Given the description of an element on the screen output the (x, y) to click on. 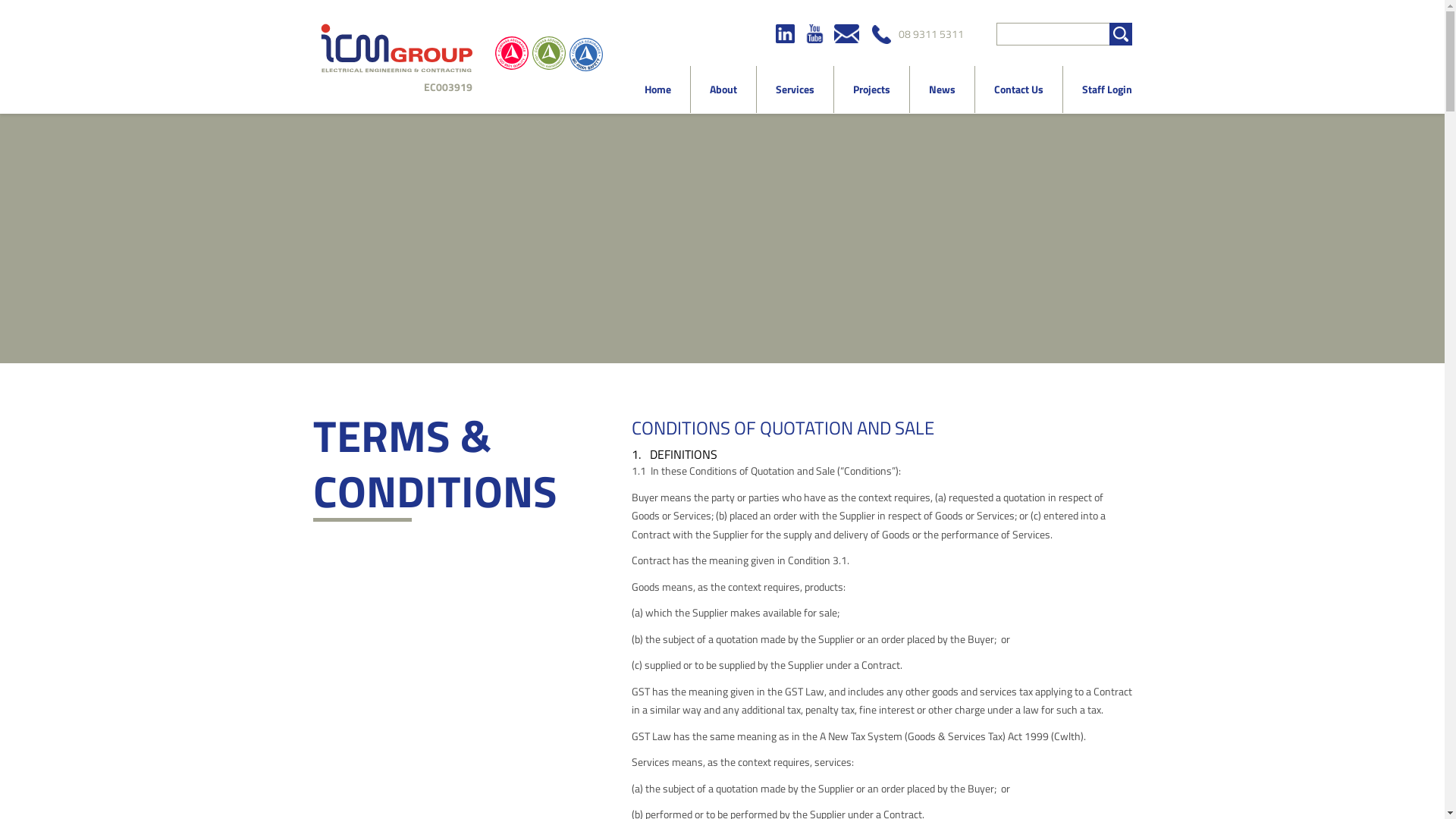
News Element type: text (942, 88)
Staff Login Element type: text (1097, 88)
Contact Us Element type: text (1018, 88)
08 9311 5311 Element type: text (917, 33)
Home Element type: text (656, 88)
About Element type: text (722, 88)
EC003919 Element type: text (391, 58)
Projects Element type: text (871, 88)
Services Element type: text (794, 88)
